Given the description of an element on the screen output the (x, y) to click on. 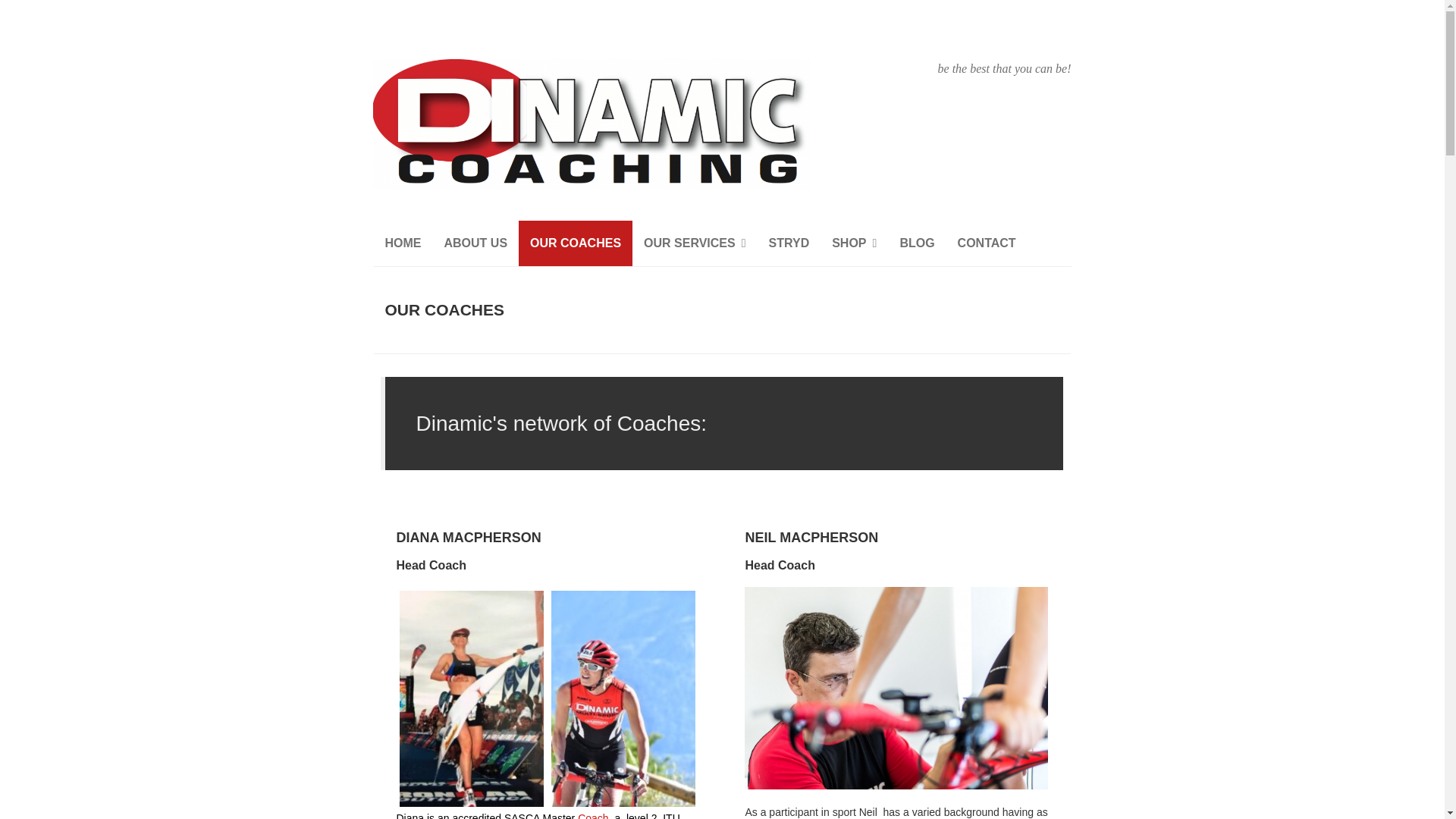
ABOUT US (475, 243)
BLOG (916, 243)
CONTACT (986, 243)
HOME (402, 243)
STRYD (789, 243)
SHOP (854, 243)
OUR COACHES (574, 243)
OUR SERVICES (694, 243)
Coach (593, 815)
